Given the description of an element on the screen output the (x, y) to click on. 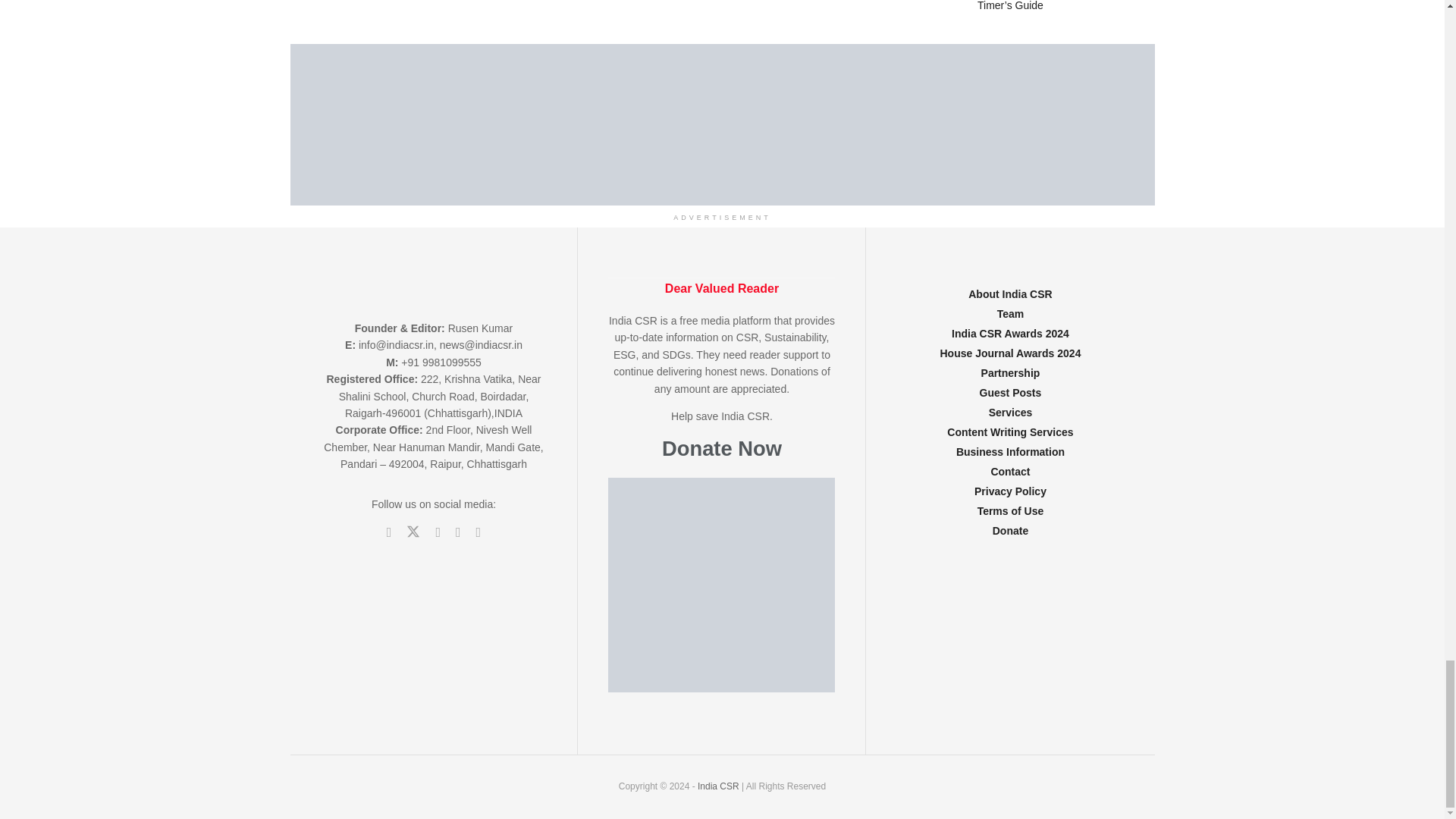
India CSR (719, 786)
